Given the description of an element on the screen output the (x, y) to click on. 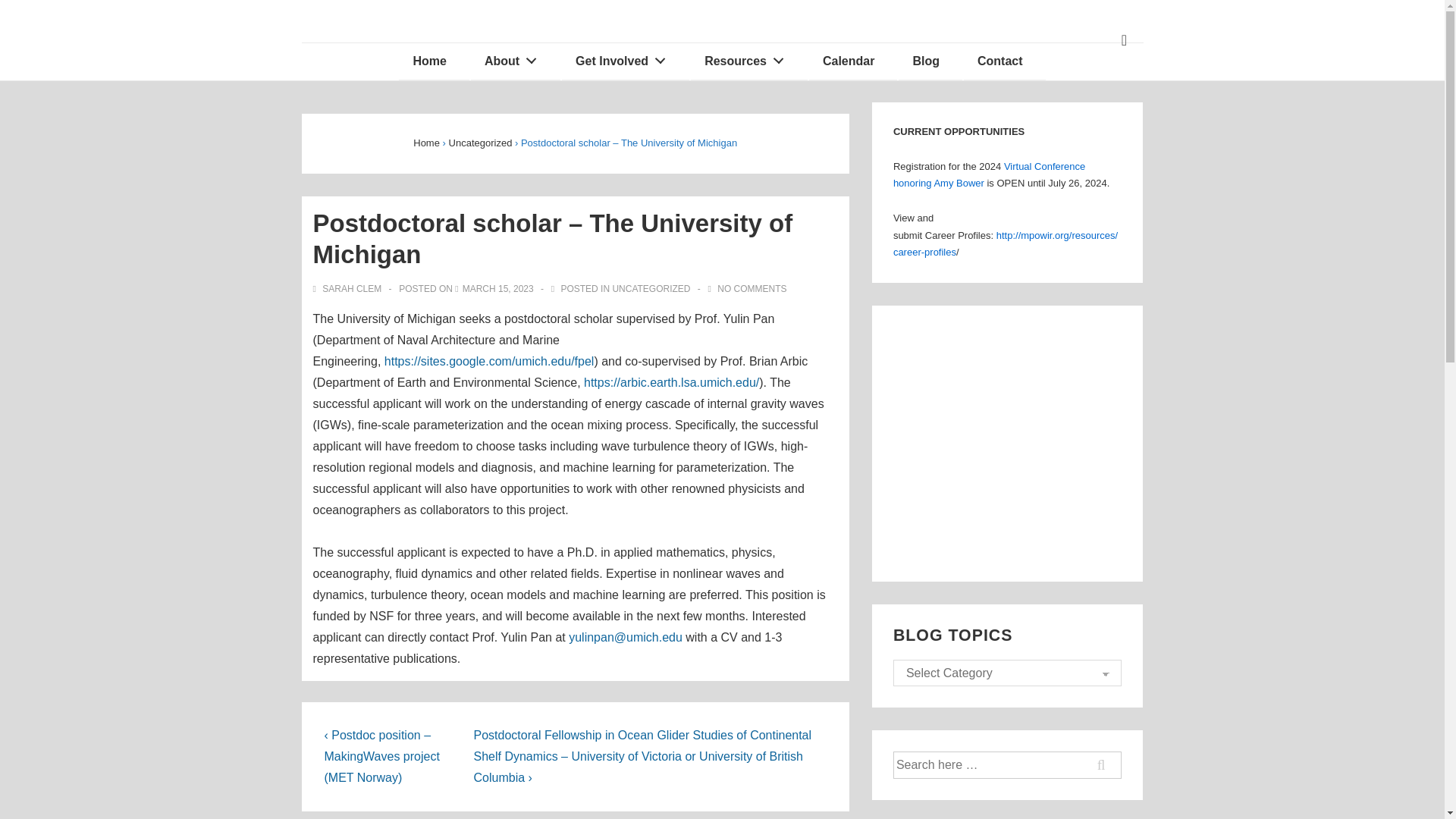
About (515, 61)
Get Involved (625, 61)
MENU (1123, 40)
Resources (749, 61)
Home (433, 61)
View all posts by Sarah Clem (348, 288)
